Given the description of an element on the screen output the (x, y) to click on. 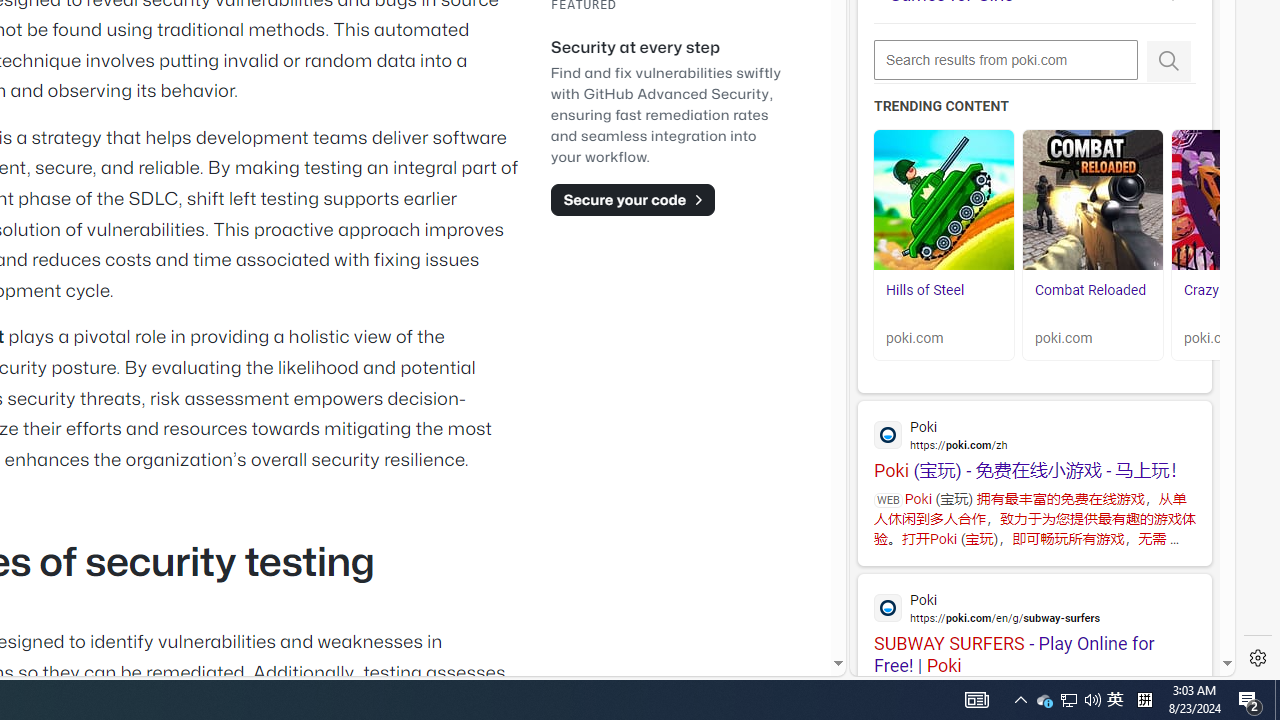
Poki (1034, 606)
Global web icon (888, 607)
Combat Reloaded (1092, 300)
Click to scroll right (1196, 247)
Hills of Steel (925, 290)
poki.com (1092, 338)
Hills of Steel Hills of Steel poki.com (943, 245)
Combat Reloaded Combat Reloaded poki.com (1092, 245)
Hills of Steel (943, 200)
SUBWAY SURFERS - Play Online for Free! | Poki (1034, 624)
Secure your code (632, 199)
